Given the description of an element on the screen output the (x, y) to click on. 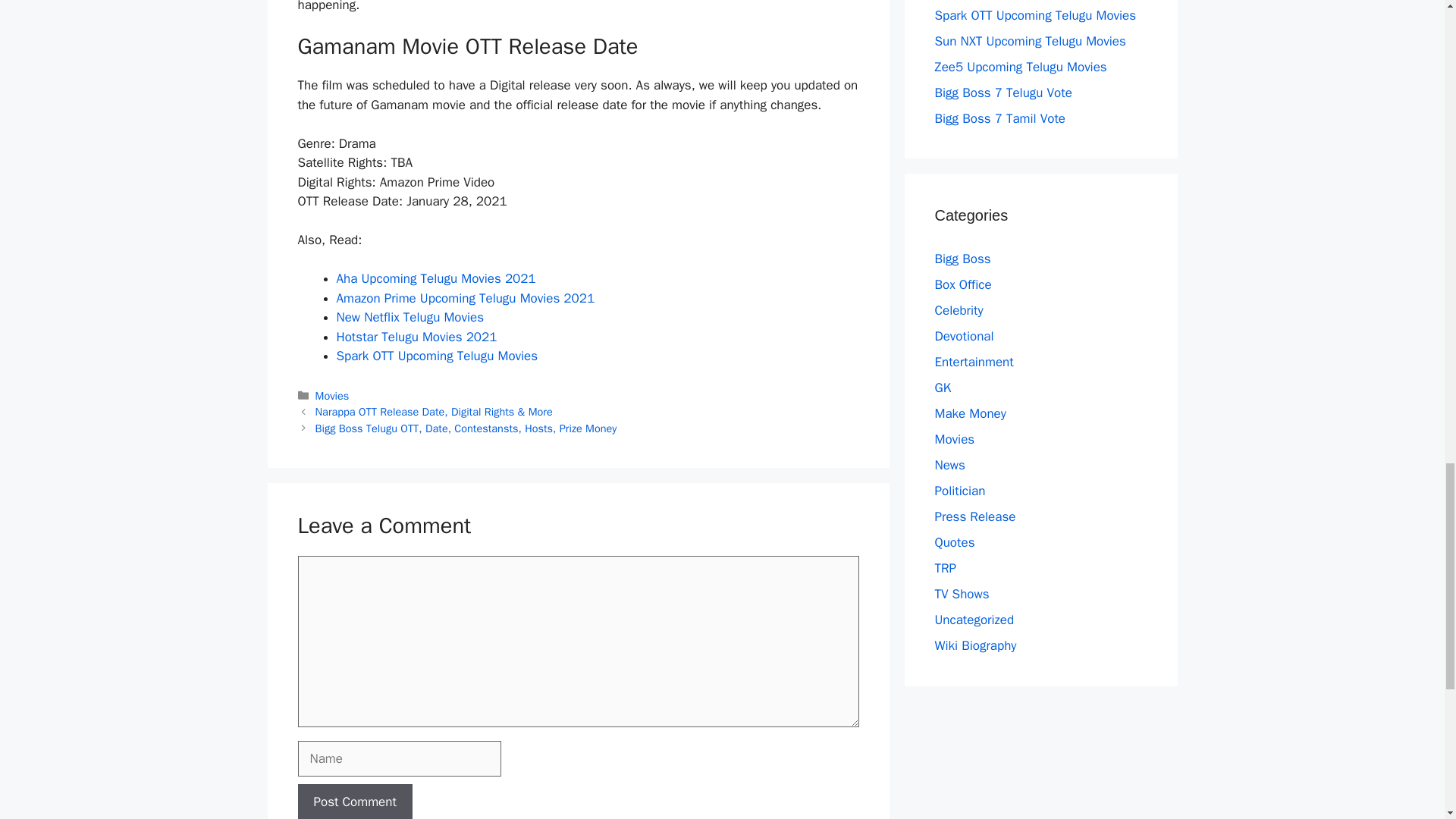
Previous (434, 411)
Bigg Boss Telugu OTT, Date, Contestansts, Hosts, Prize Money (466, 427)
Post Comment (354, 801)
Next (466, 427)
Amazon Prime Upcoming Telugu Movies 2021 (465, 298)
Aha Upcoming Telugu Movies 2021 (435, 278)
New Netflix Telugu Movies (410, 317)
Hotstar Telugu Movies 2021 (416, 336)
Post Comment (354, 801)
Spark OTT Upcoming Telugu Movies (437, 355)
